Given the description of an element on the screen output the (x, y) to click on. 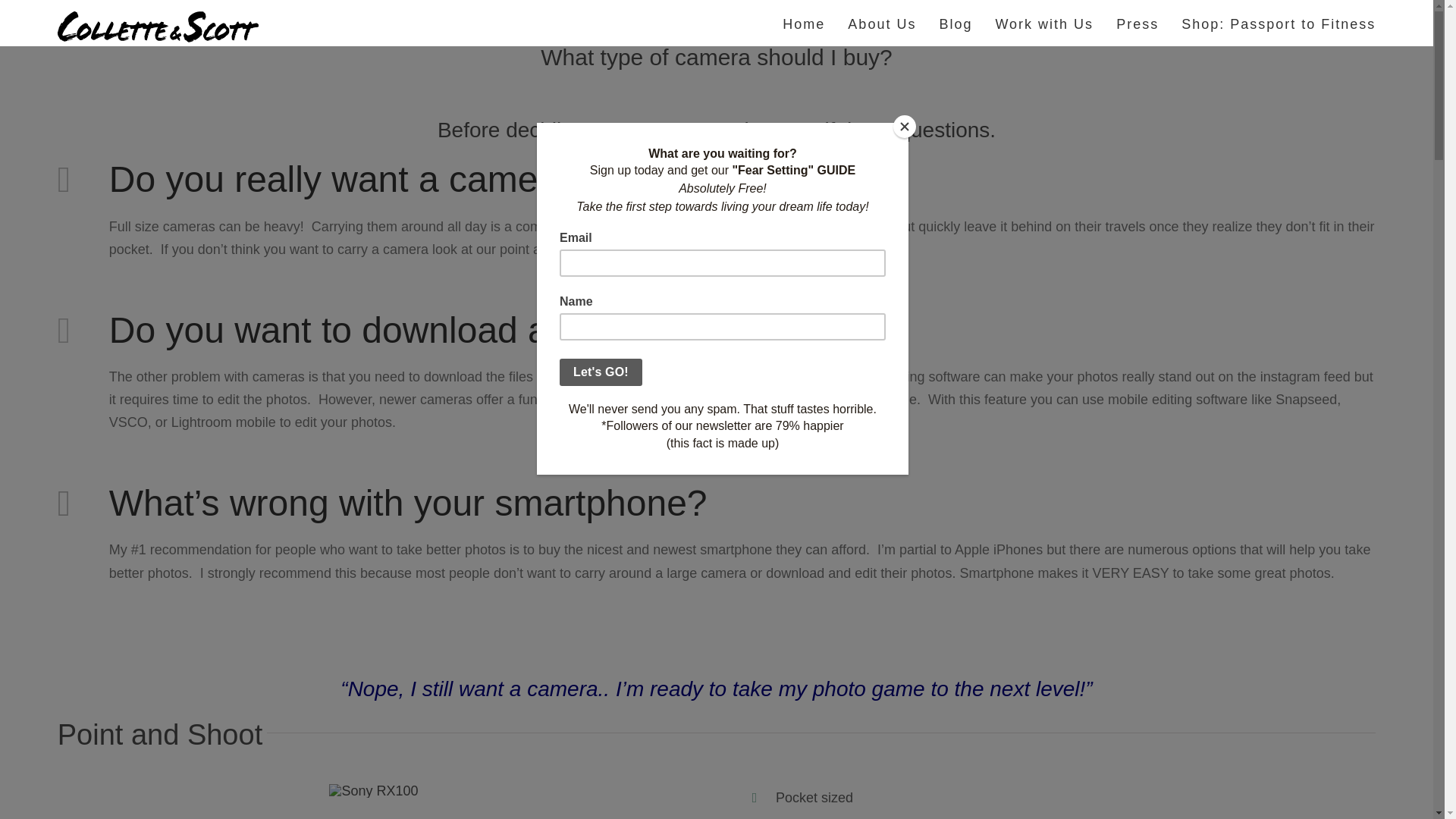
Shop: Passport to Fitness (1277, 22)
Press (1137, 22)
About Us (881, 22)
Home (804, 22)
Work with Us (1043, 22)
